Given the description of an element on the screen output the (x, y) to click on. 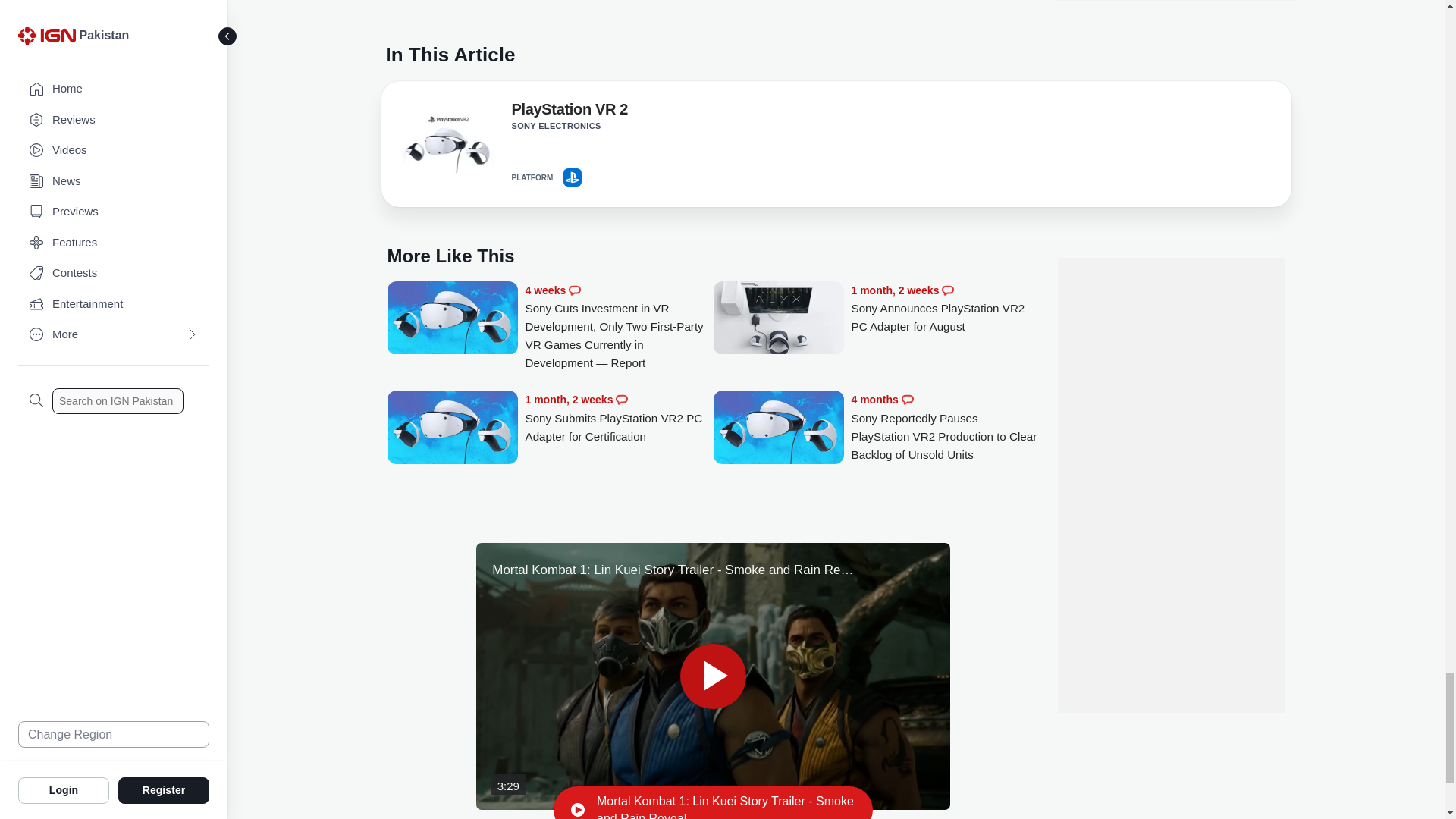
PlayStation VR 2 (448, 142)
PS5 (571, 177)
Comments (574, 290)
Comments (907, 399)
Comments (947, 290)
Sony Announces PlayStation VR2 PC Adapter for August (778, 319)
Sony Submits PlayStation VR2 PC Adapter for Certification (451, 428)
PlayStation VR 2 (448, 147)
PlayStation VR 2 (569, 111)
Sony Submits PlayStation VR2 PC Adapter for Certification (618, 417)
Comments (621, 399)
Sony Announces PlayStation VR2 PC Adapter for August (944, 308)
